Given the description of an element on the screen output the (x, y) to click on. 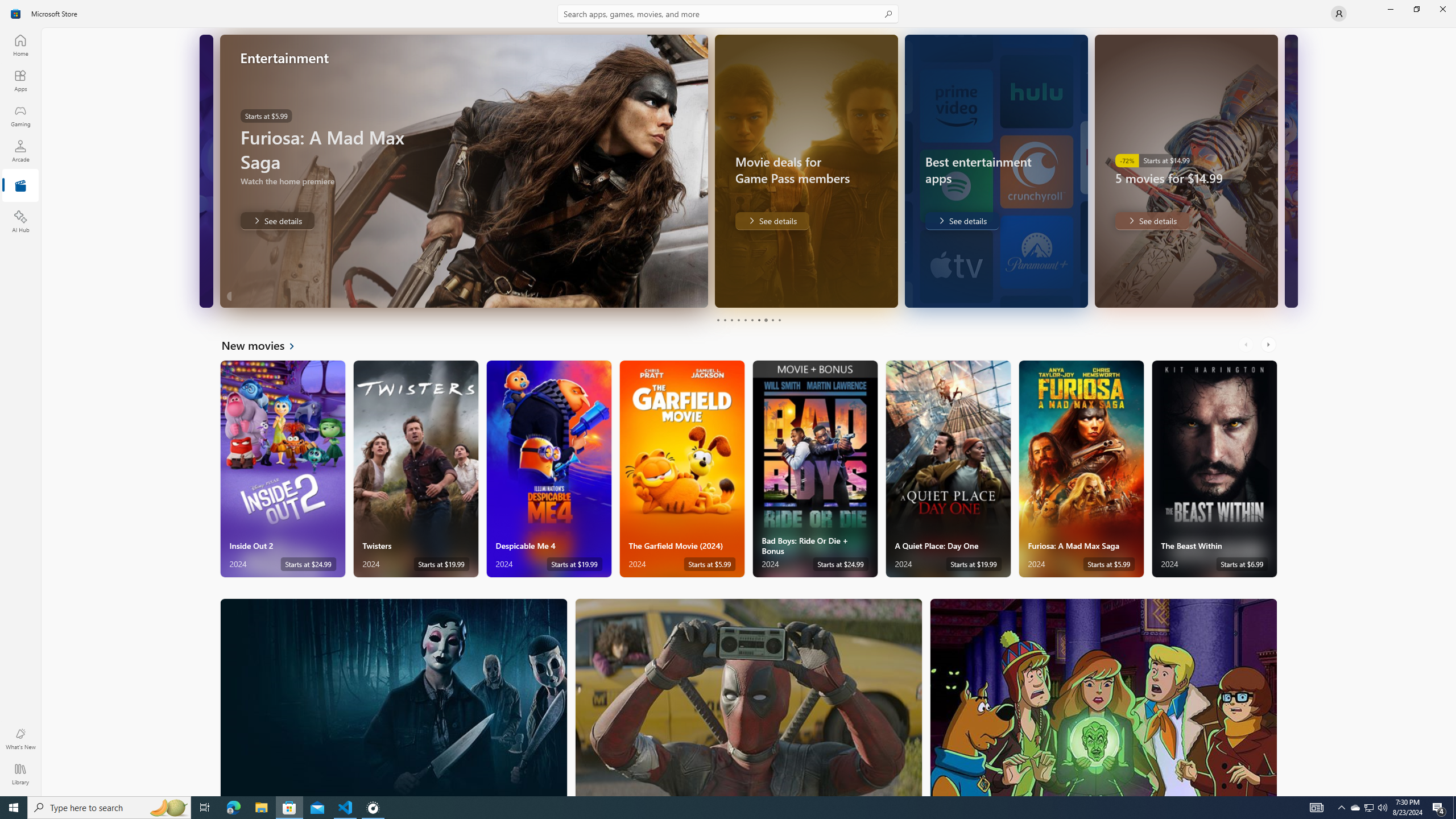
Family (1102, 697)
Bad Boys: Ride Or Die + Bonus. Starts at $24.99   (814, 469)
Restore Microsoft Store (1416, 9)
Search (727, 13)
Page 3 (731, 319)
Home (20, 45)
Page 6 (751, 319)
The Garfield Movie (2024). Starts at $5.99   (681, 469)
Page 9 (772, 319)
AutomationID: NavigationControl (728, 398)
Page 10 (779, 319)
Page 4 (738, 319)
